Given the description of an element on the screen output the (x, y) to click on. 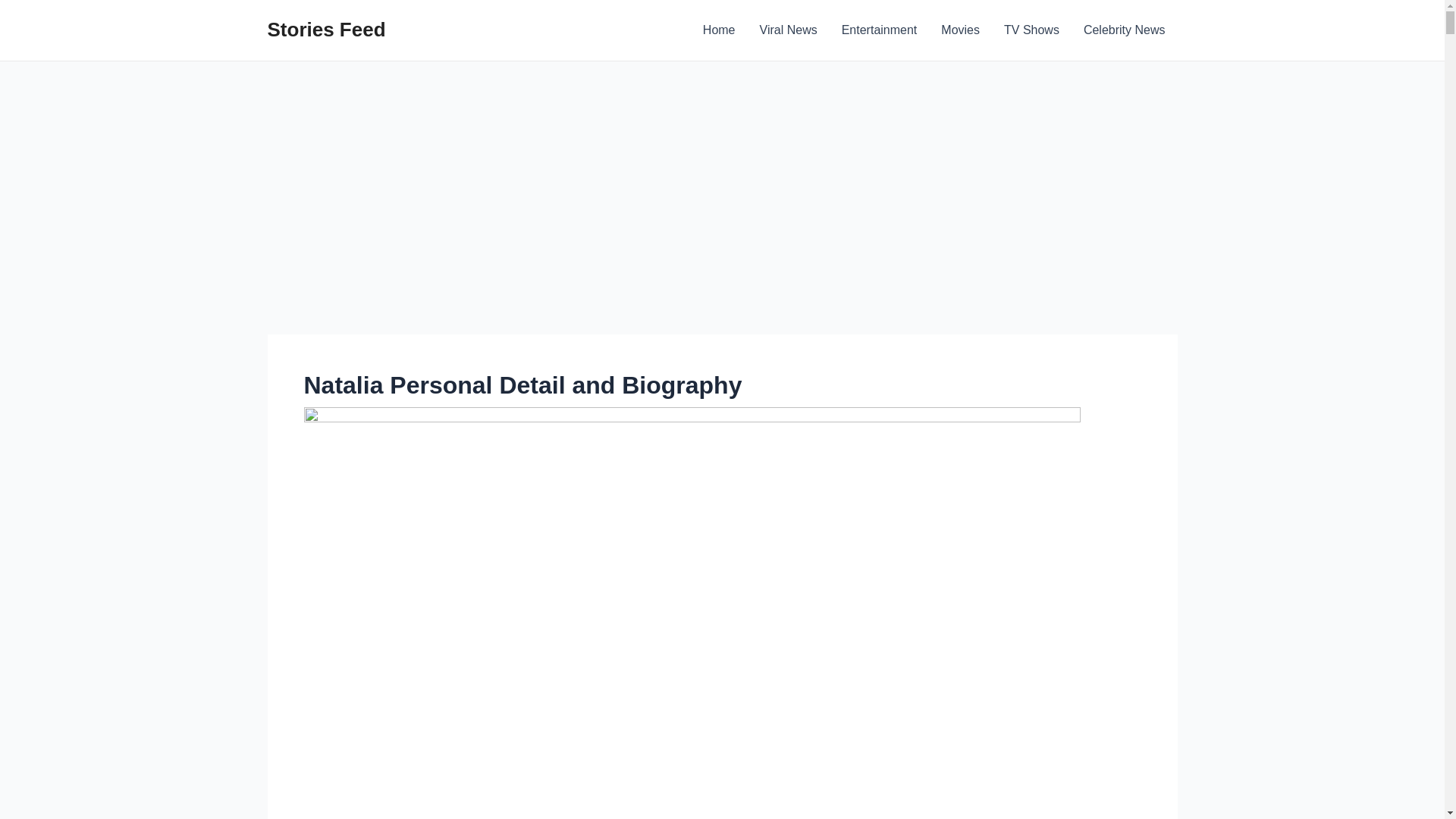
Viral News (788, 30)
TV Shows (1031, 30)
Entertainment (879, 30)
Stories Feed (325, 29)
Home (719, 30)
Celebrity News (1124, 30)
Movies (959, 30)
